Given the description of an element on the screen output the (x, y) to click on. 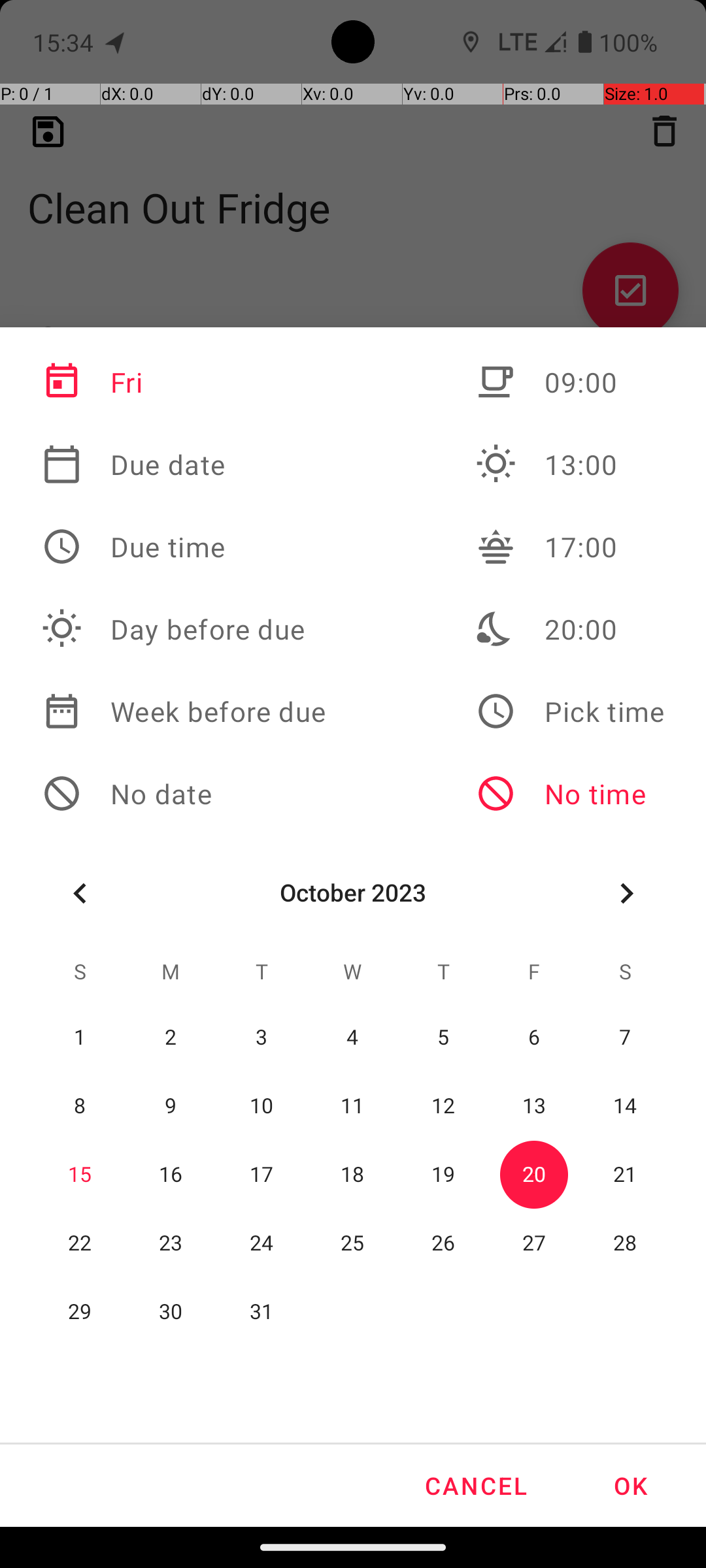
Due date Element type: android.widget.CompoundButton (183, 464)
Due time Element type: android.widget.CompoundButton (183, 546)
Day before due Element type: android.widget.CompoundButton (183, 629)
Week before due Element type: android.widget.CompoundButton (183, 711)
